Given the description of an element on the screen output the (x, y) to click on. 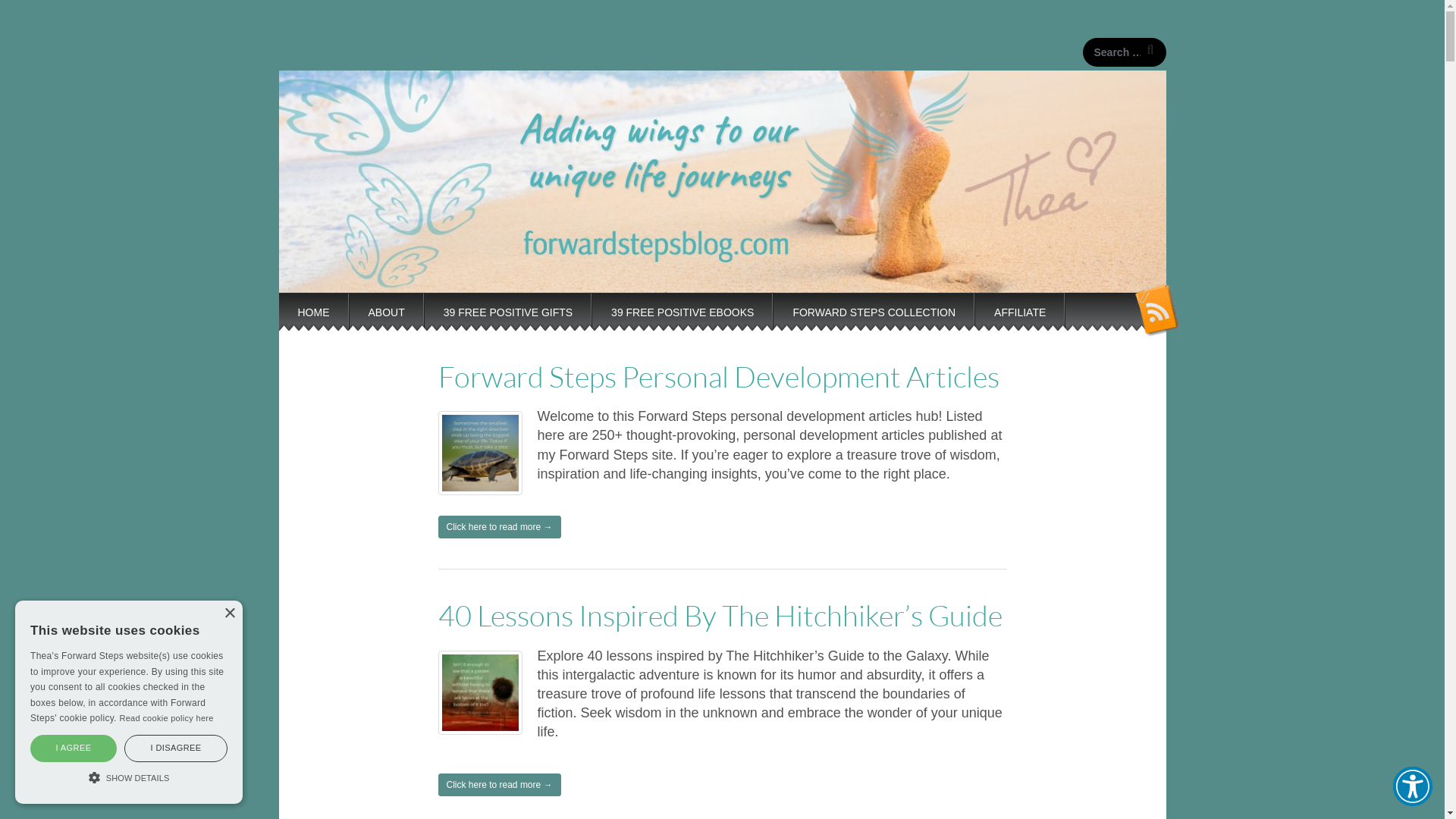
Forward Steps Personal Development Articles Element type: text (718, 375)
AFFILIATE Element type: text (1019, 317)
Skip to content Element type: text (277, 291)
39 FREE POSITIVE GIFTS Element type: text (507, 317)
ABOUT Element type: text (385, 317)
CONTACT THEA Element type: text (338, 367)
Search Element type: text (23, 14)
HOME Element type: text (313, 317)
Read cookie policy here Element type: text (166, 717)
39 FREE POSITIVE EBOOKS Element type: text (682, 317)
FORWARD STEPS COLLECTION Element type: text (873, 317)
Forward Steps Personal Development Blog Element type: text (722, 69)
